Given the description of an element on the screen output the (x, y) to click on. 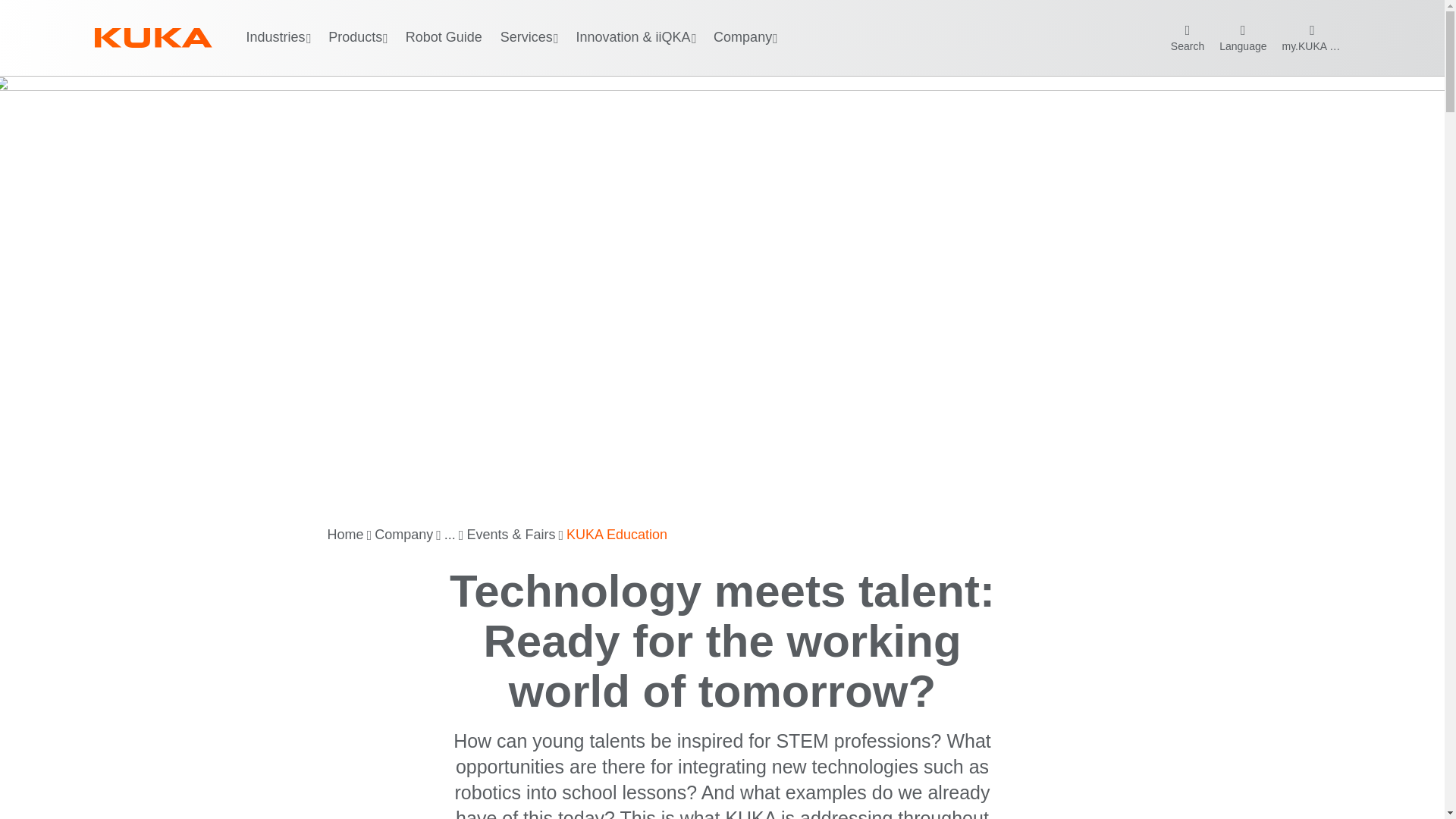
KUKA Education (616, 535)
Company (403, 535)
Home (345, 535)
